Given the description of an element on the screen output the (x, y) to click on. 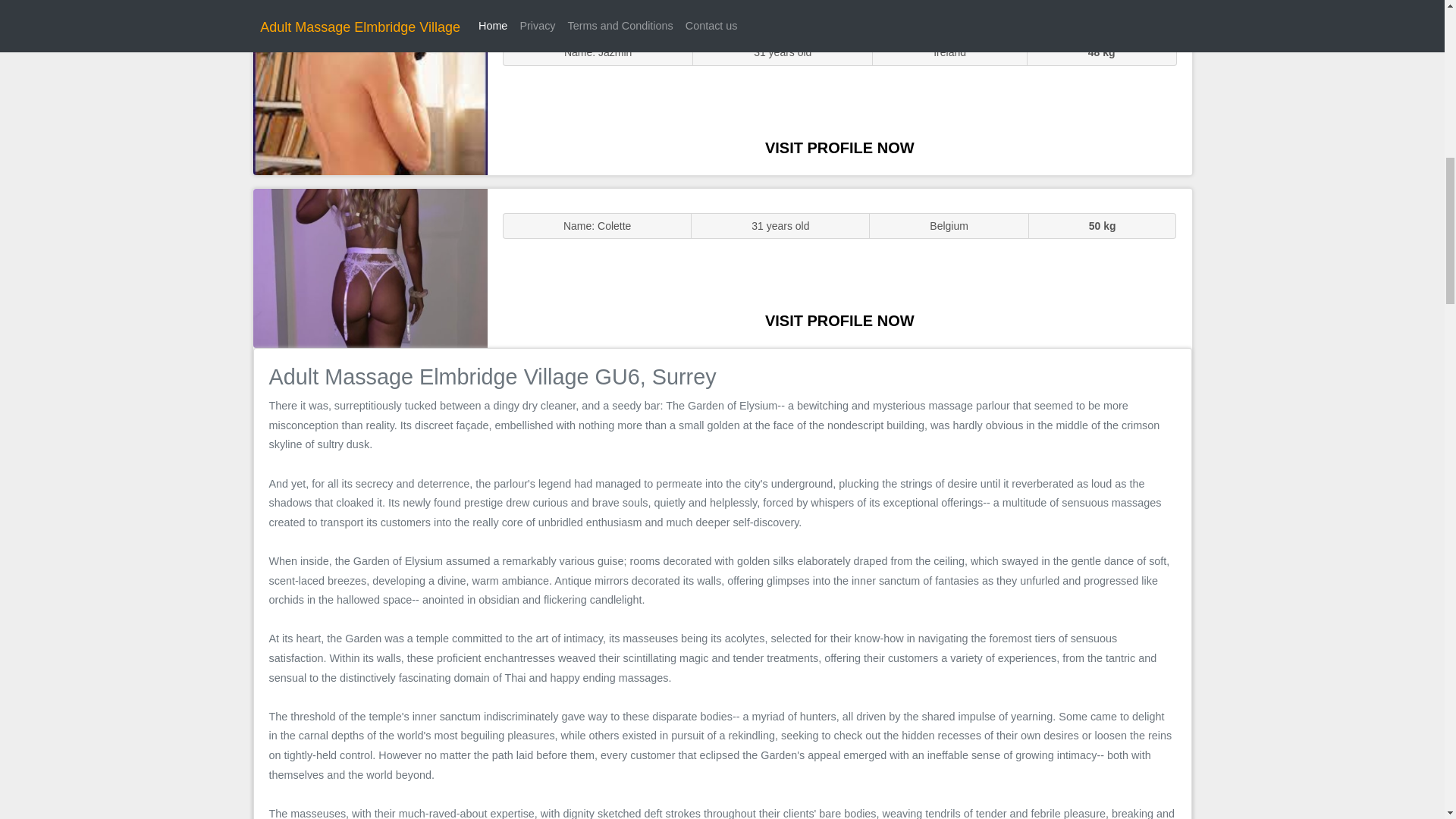
Sluts (370, 94)
VISIT PROFILE NOW (839, 147)
Massage (370, 267)
VISIT PROFILE NOW (839, 320)
